Given the description of an element on the screen output the (x, y) to click on. 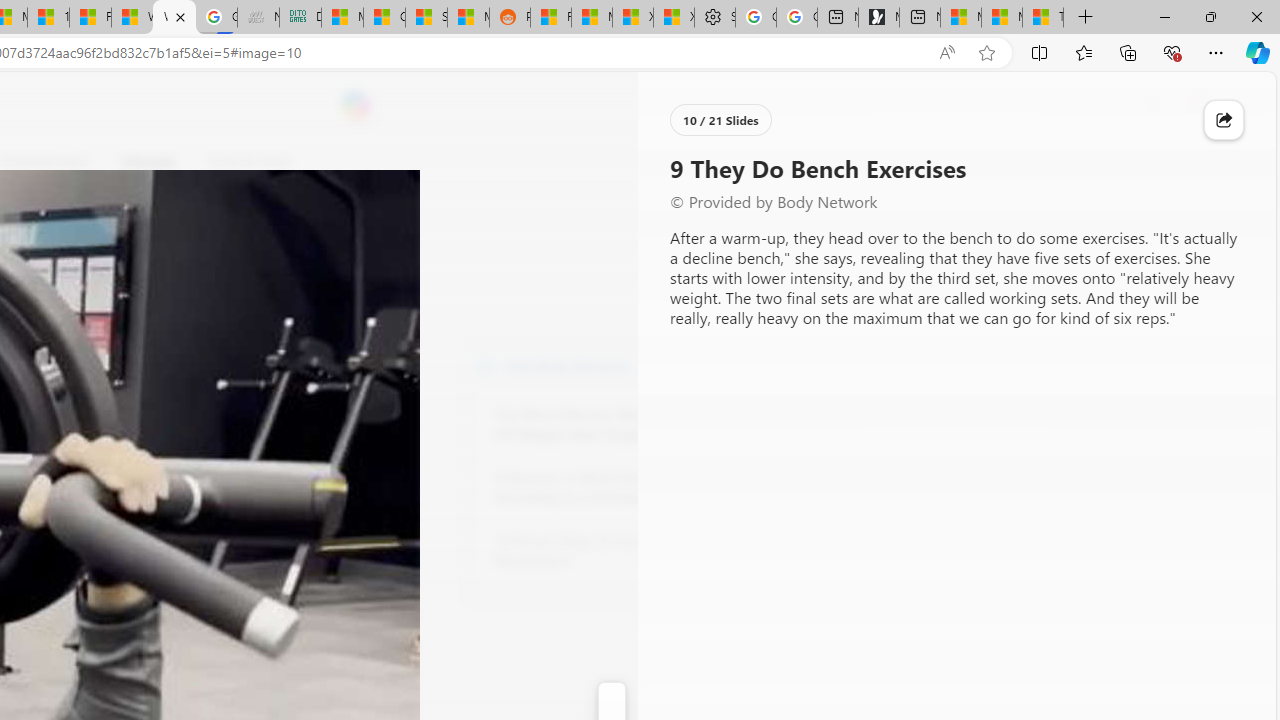
Share this story (1224, 119)
Class: at-item immersive (1224, 120)
Body Network (486, 364)
